Given the description of an element on the screen output the (x, y) to click on. 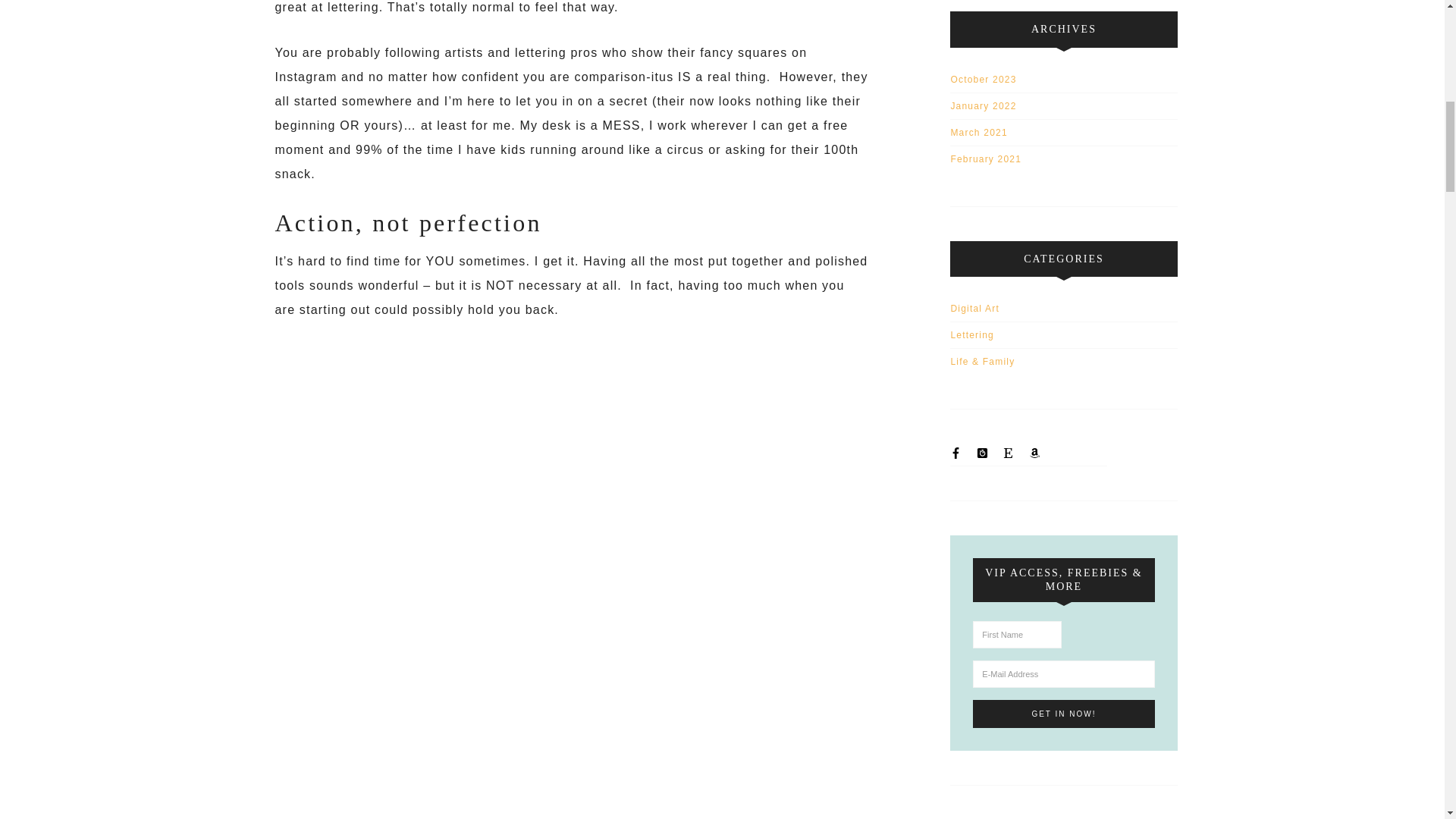
Get in now! (1063, 714)
